Given the description of an element on the screen output the (x, y) to click on. 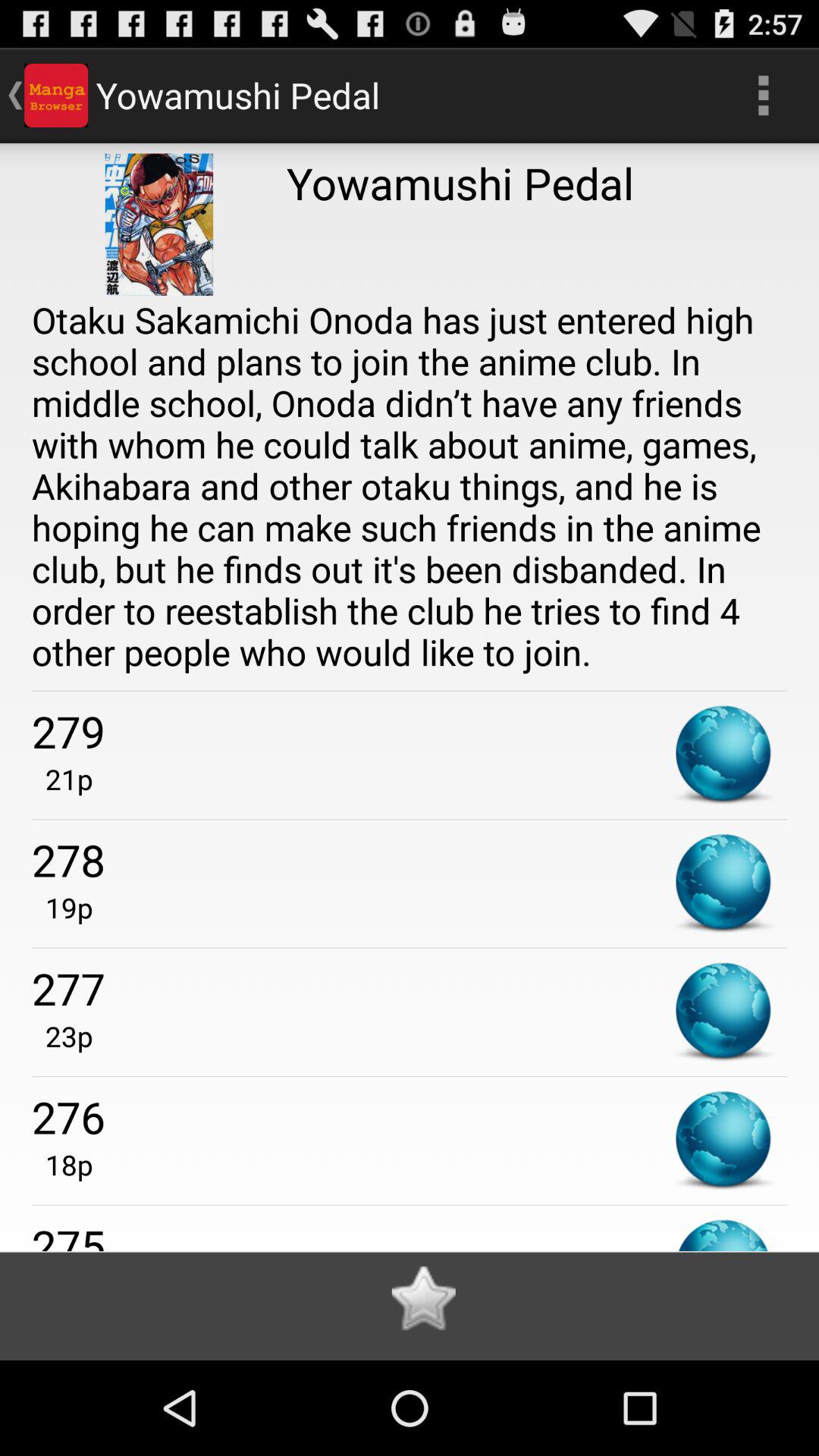
select the icon above the 277 icon (61, 907)
